Given the description of an element on the screen output the (x, y) to click on. 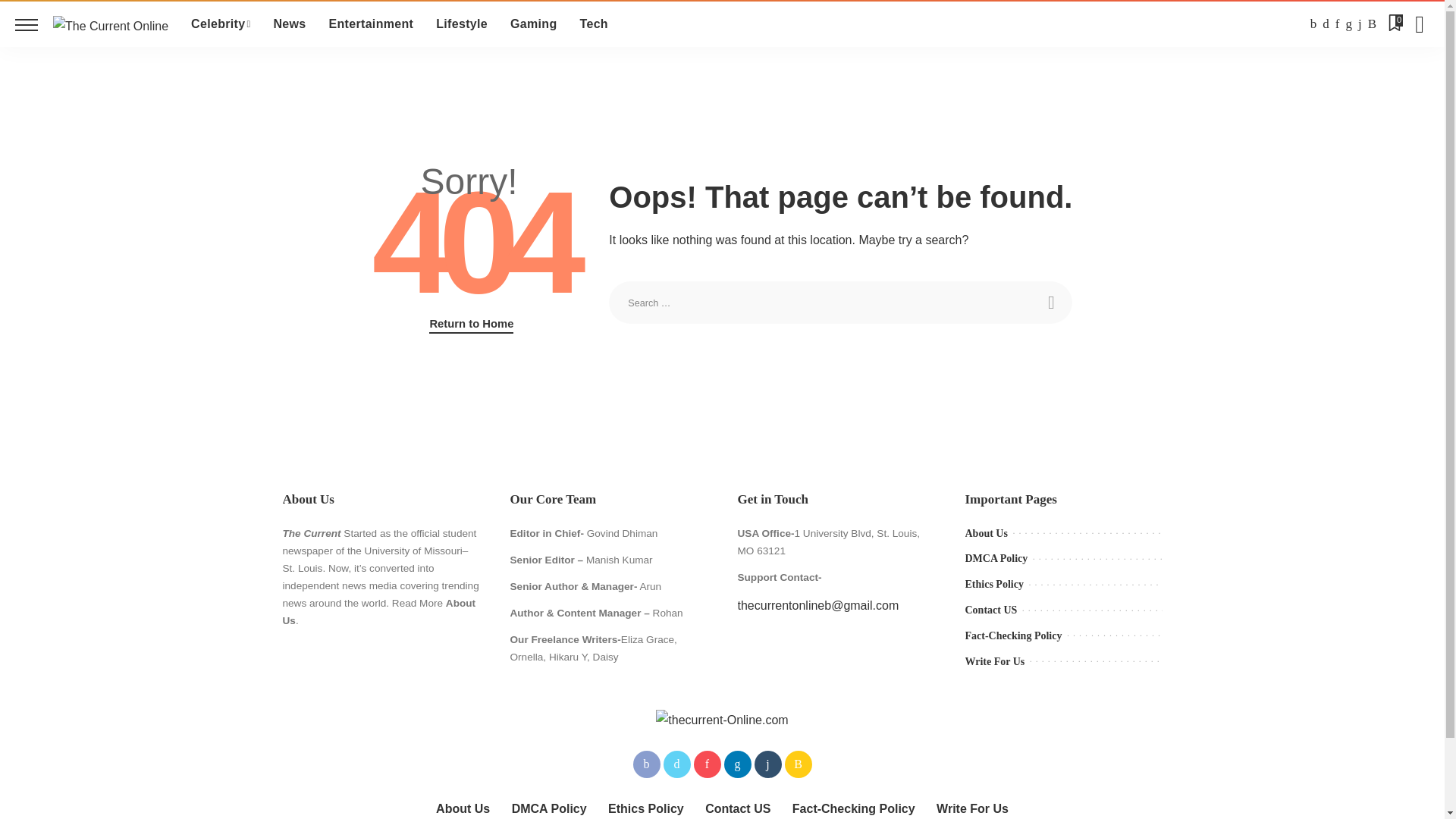
Entertainment (371, 23)
The Current Online (110, 23)
Search (1050, 302)
Search (1050, 302)
Lifestyle (462, 23)
Tech (594, 23)
Celebrity (220, 23)
Return to Home (471, 324)
Gaming (533, 23)
News (289, 23)
